Given the description of an element on the screen output the (x, y) to click on. 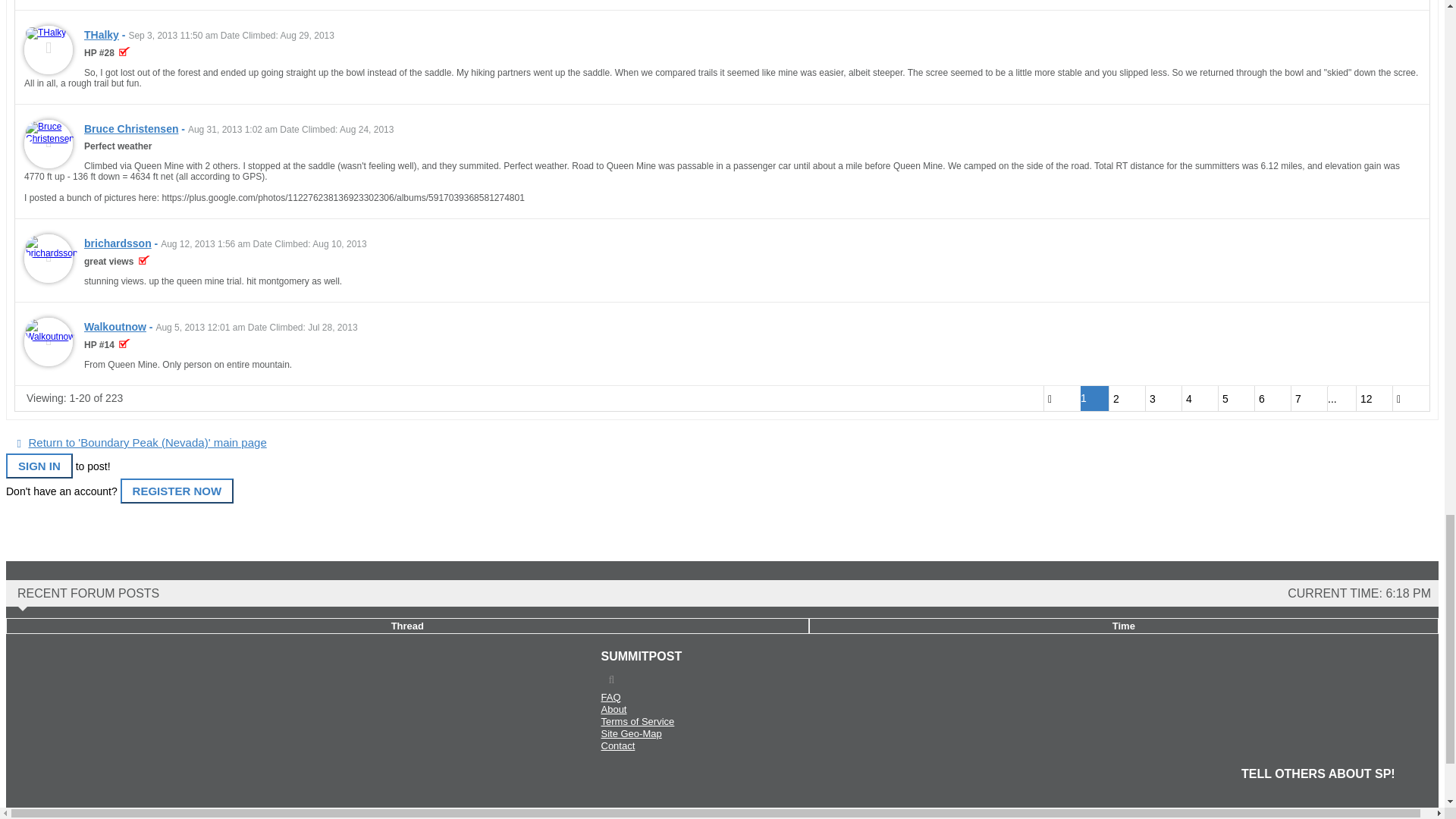
REGISTER NOW (177, 490)
SIGN IN (38, 465)
